Given the description of an element on the screen output the (x, y) to click on. 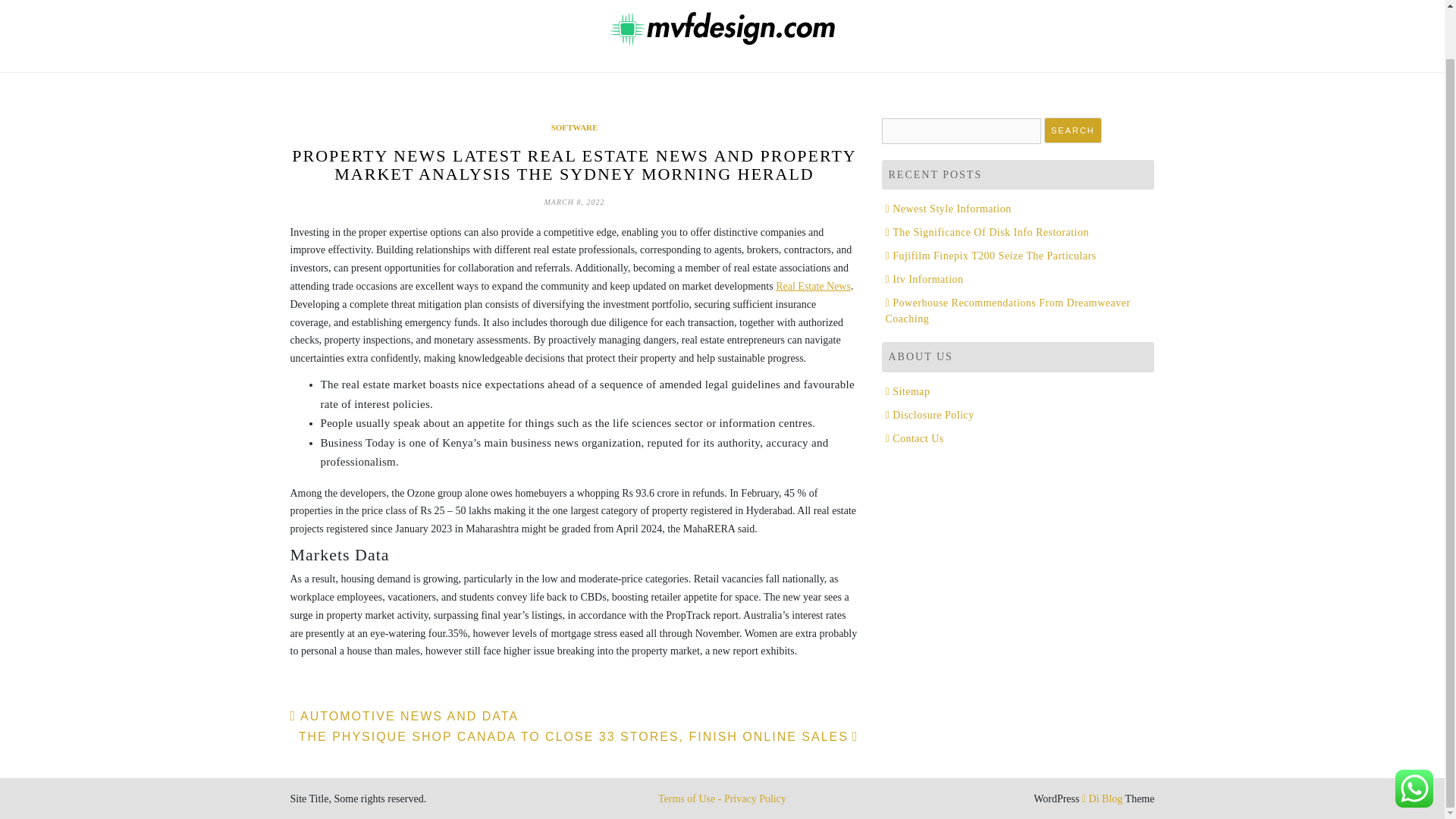
The Significance Of Disk Info Restoration (987, 232)
Search (1072, 130)
Real Estate News (813, 285)
Itv Information (924, 279)
Contact Us (914, 438)
Newest Style Information (948, 208)
Search (1072, 130)
AUTOMOTIVE NEWS AND DATA (403, 716)
Di Blog (1101, 798)
Disclosure Policy (929, 414)
